Given the description of an element on the screen output the (x, y) to click on. 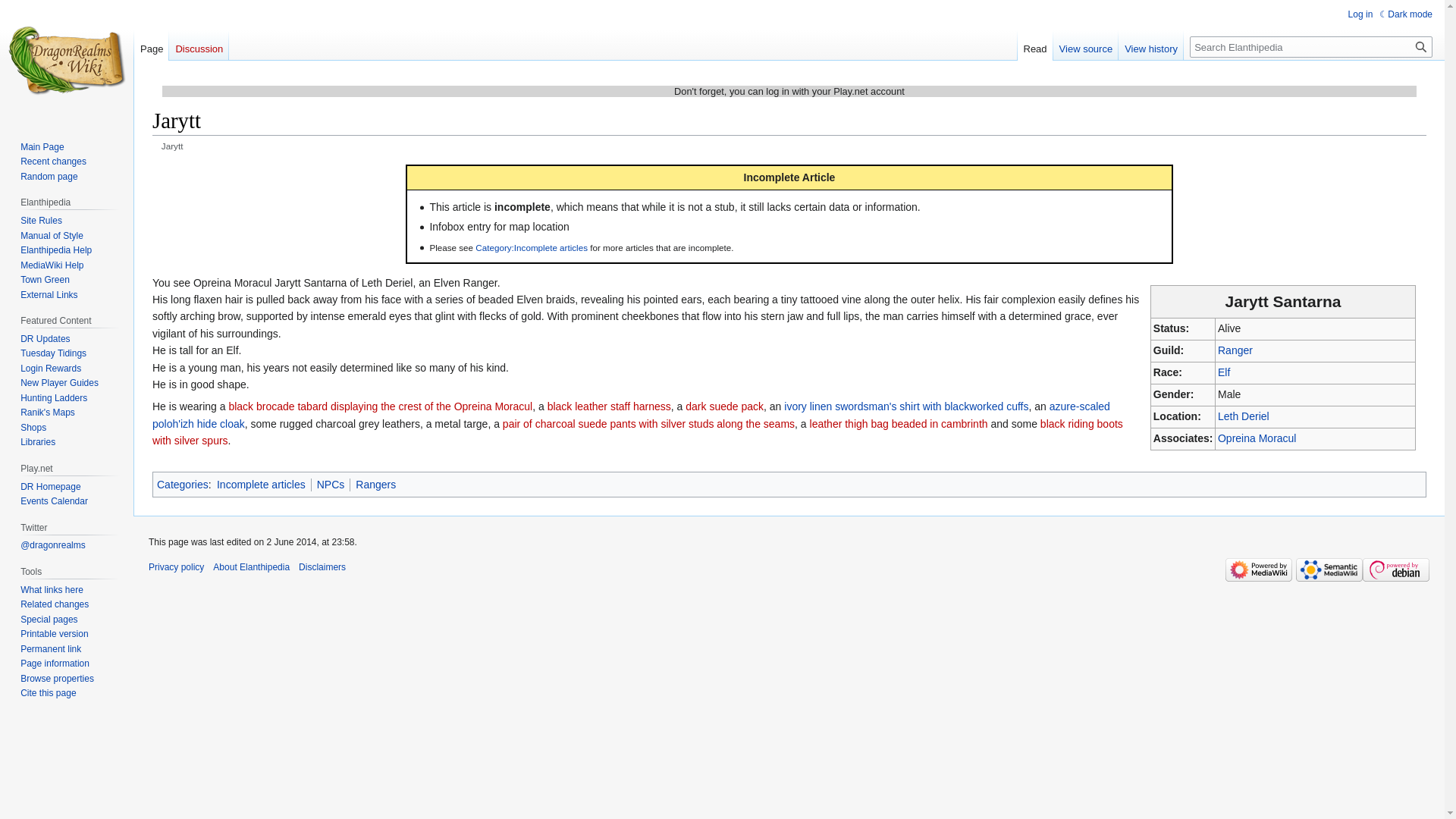
NPCs (331, 484)
Dark mode (1405, 14)
Log in (1360, 14)
Page (150, 45)
leather thigh bag beaded in cambrinth (898, 423)
Incomplete articles (260, 484)
MediaWiki Help (51, 265)
Search (1420, 46)
Category:Rangers (375, 484)
